Given the description of an element on the screen output the (x, y) to click on. 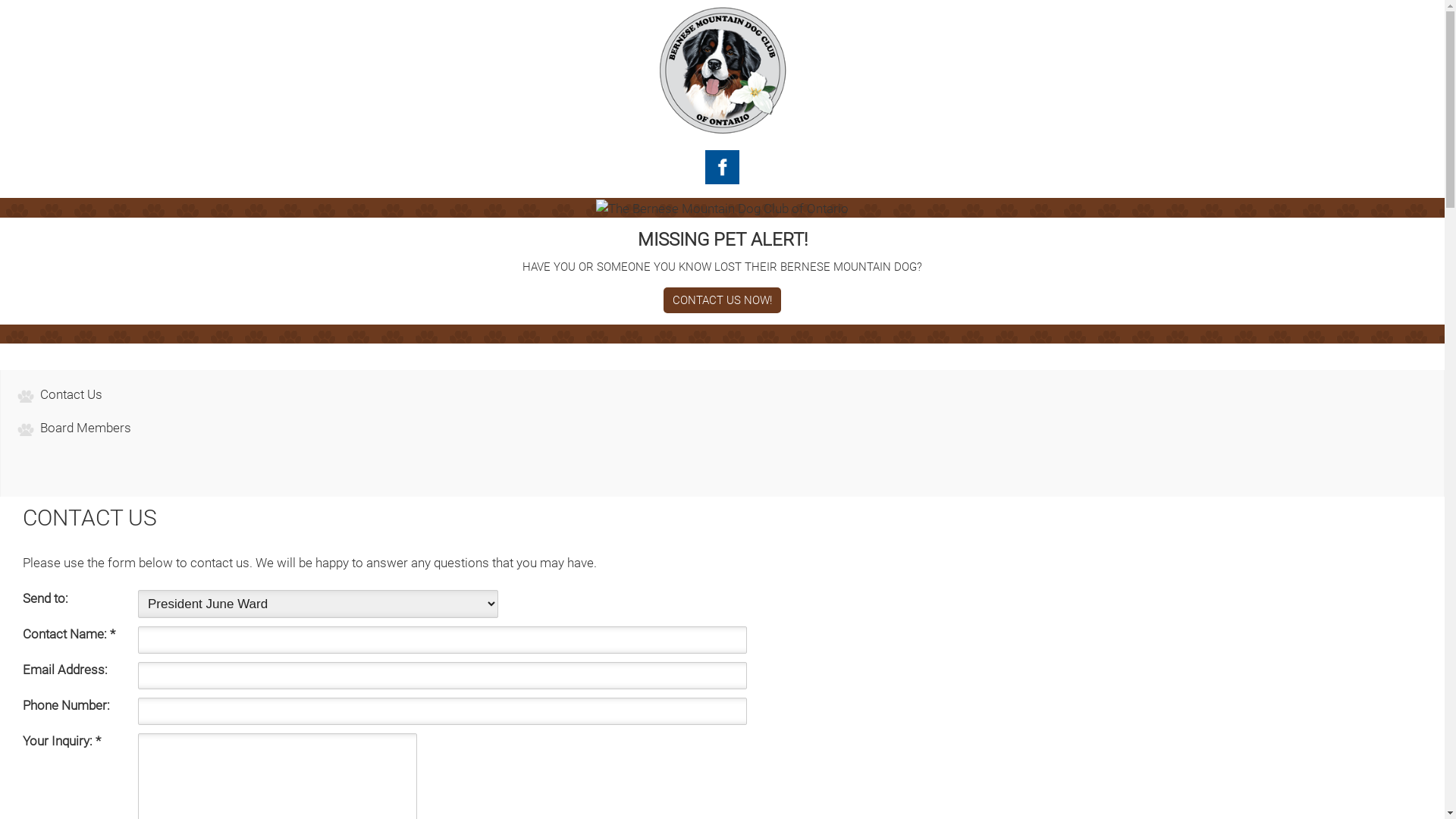
Board Members Element type: text (85, 427)
Prev Element type: hover (160, 207)
Next Element type: hover (1283, 207)
Phone Number Element type: hover (442, 710)
Contact Us Element type: text (71, 393)
Bernese Mountain Dog Club of Ontario Element type: hover (721, 69)
Facebook Element type: hover (722, 167)
The Bernese Mountain Dog Club of Ontario Element type: hover (722, 208)
Contact Name Element type: hover (442, 639)
Email Address Element type: hover (442, 675)
